Given the description of an element on the screen output the (x, y) to click on. 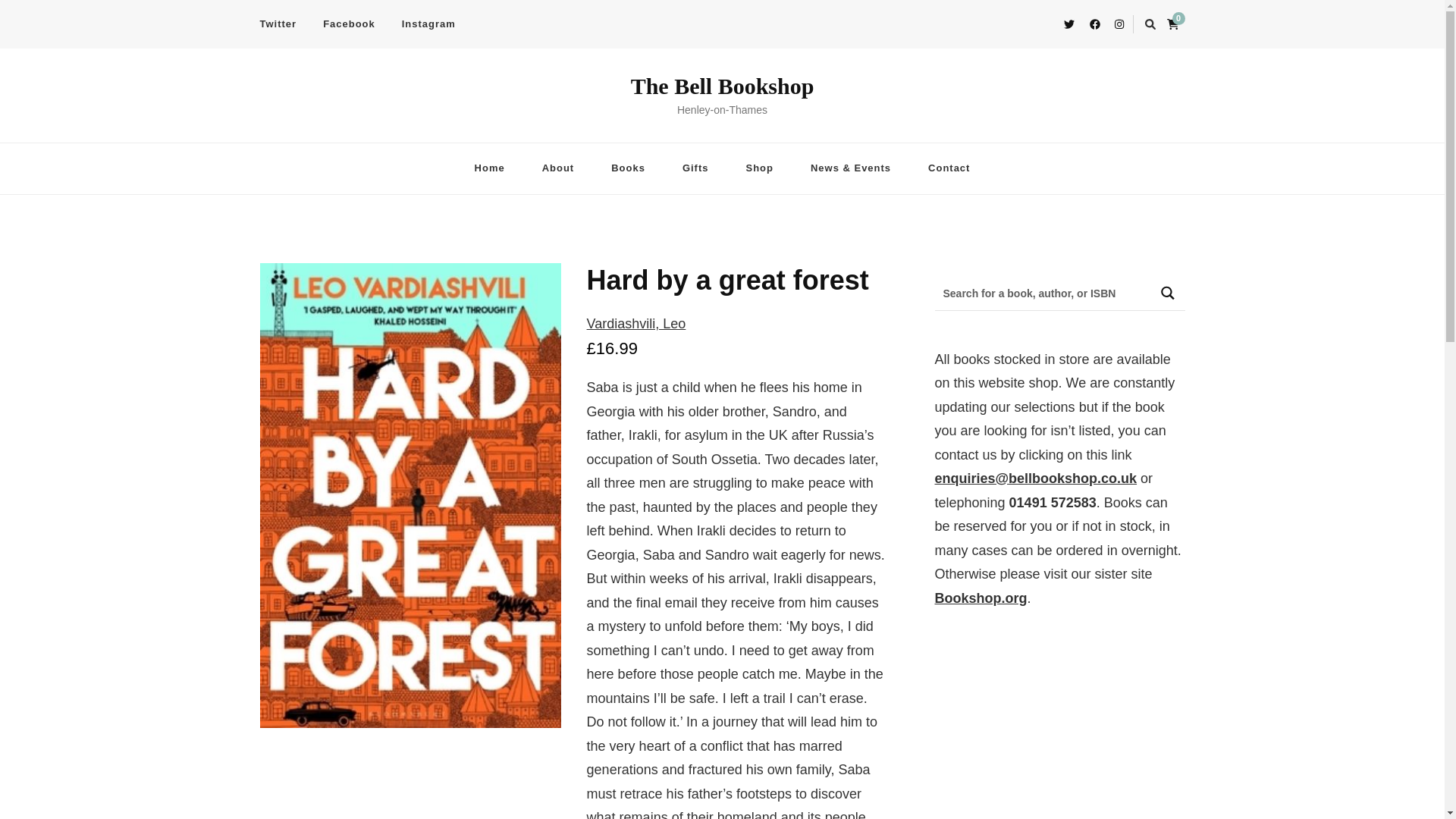
Instagram (428, 24)
Home (489, 168)
Facebook (349, 24)
Gifts (695, 168)
Contact (949, 168)
Shop (759, 168)
View your shopping basket (1176, 21)
About (558, 168)
Twitter (283, 24)
0 (1176, 21)
Vardiashvili, Leo (635, 322)
The Bell Bookshop (721, 85)
Books (628, 168)
